Given the description of an element on the screen output the (x, y) to click on. 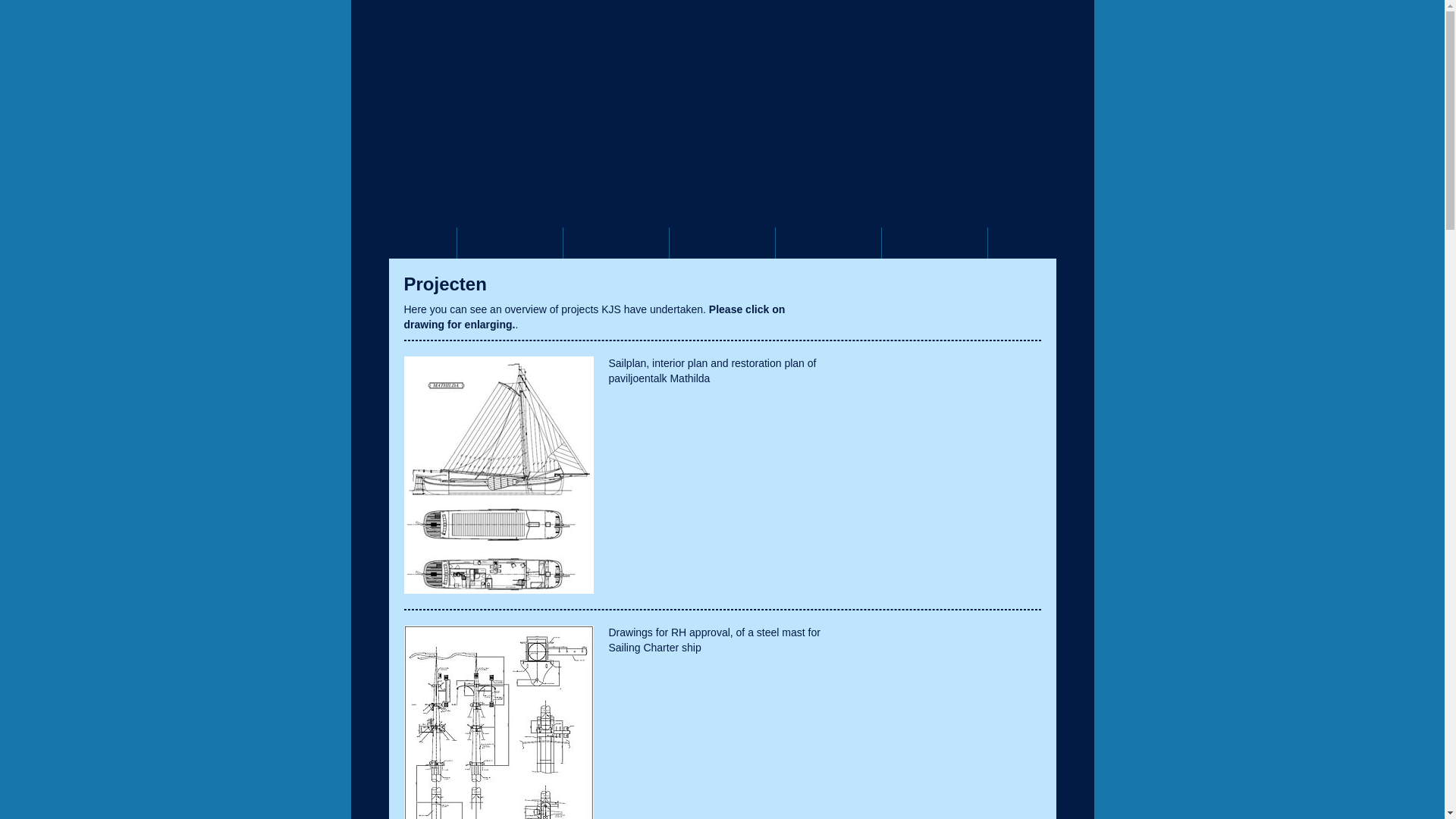
Services (615, 242)
Links (1040, 242)
About KJS (509, 242)
Ships for sale (827, 242)
KJS Scheepswerken (514, 41)
Contact (933, 242)
Projecten (721, 242)
Home (403, 242)
